Given the description of an element on the screen output the (x, y) to click on. 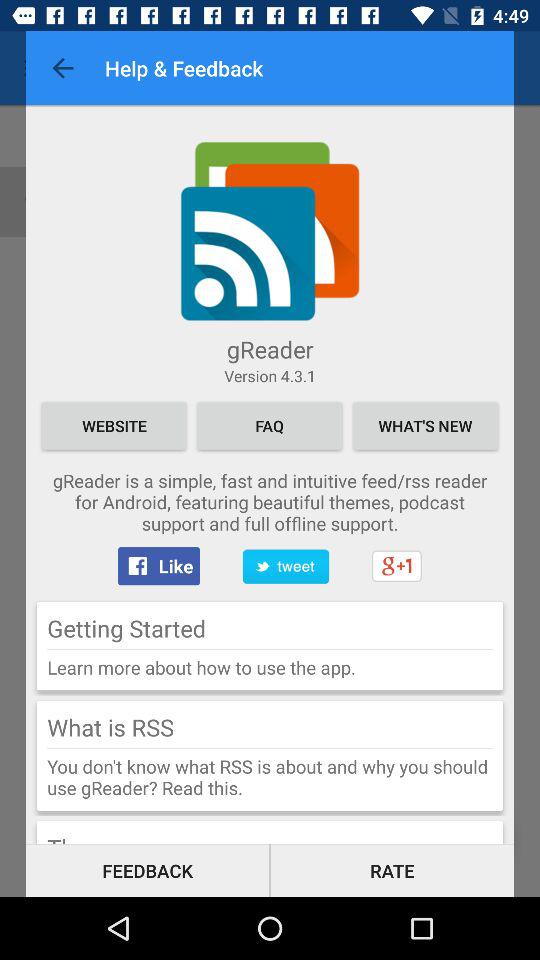
tap the icon at the top left corner (62, 68)
